Given the description of an element on the screen output the (x, y) to click on. 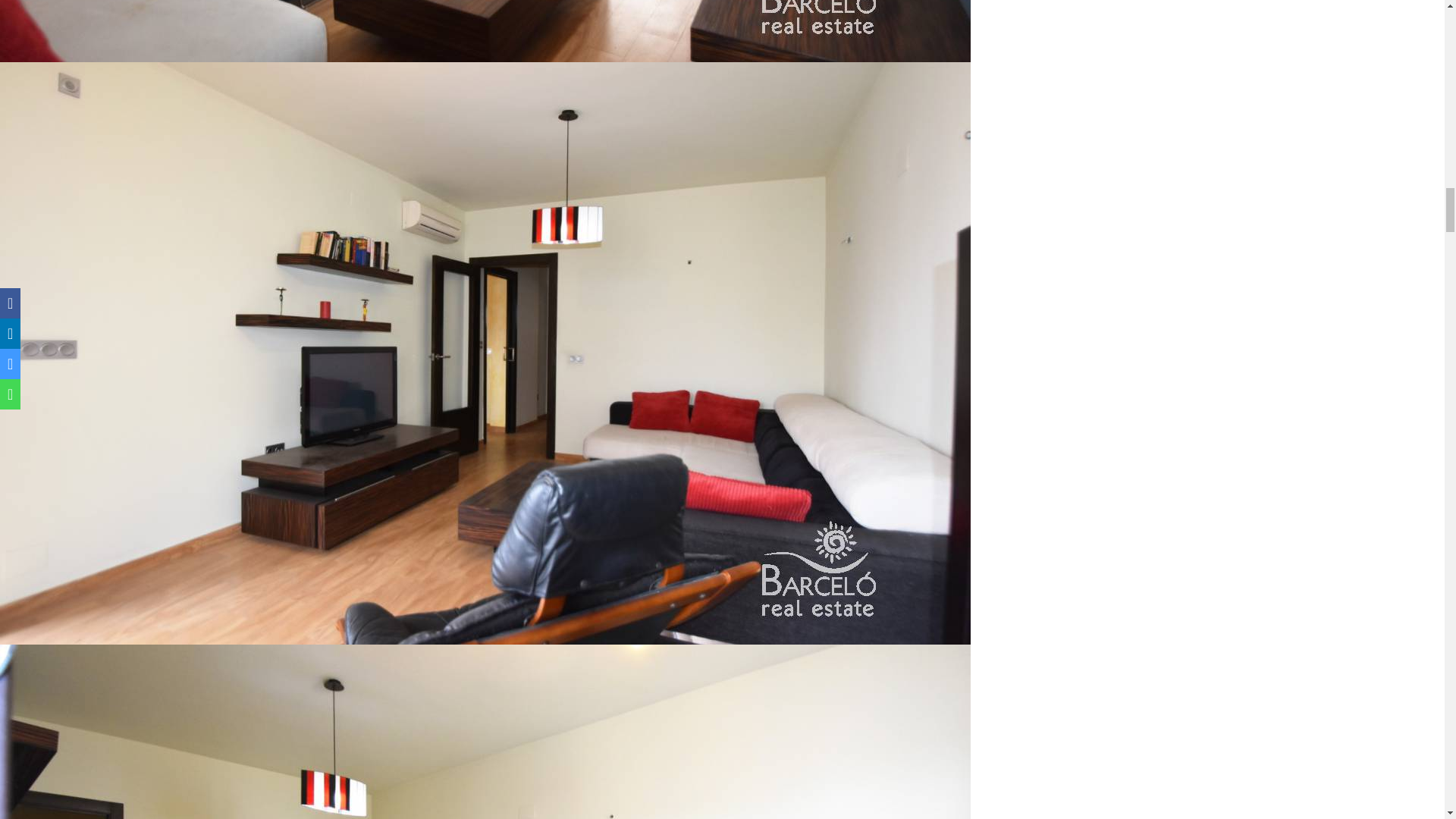
Resale - Attached - Los Montesinos - Center (485, 31)
